Given the description of an element on the screen output the (x, y) to click on. 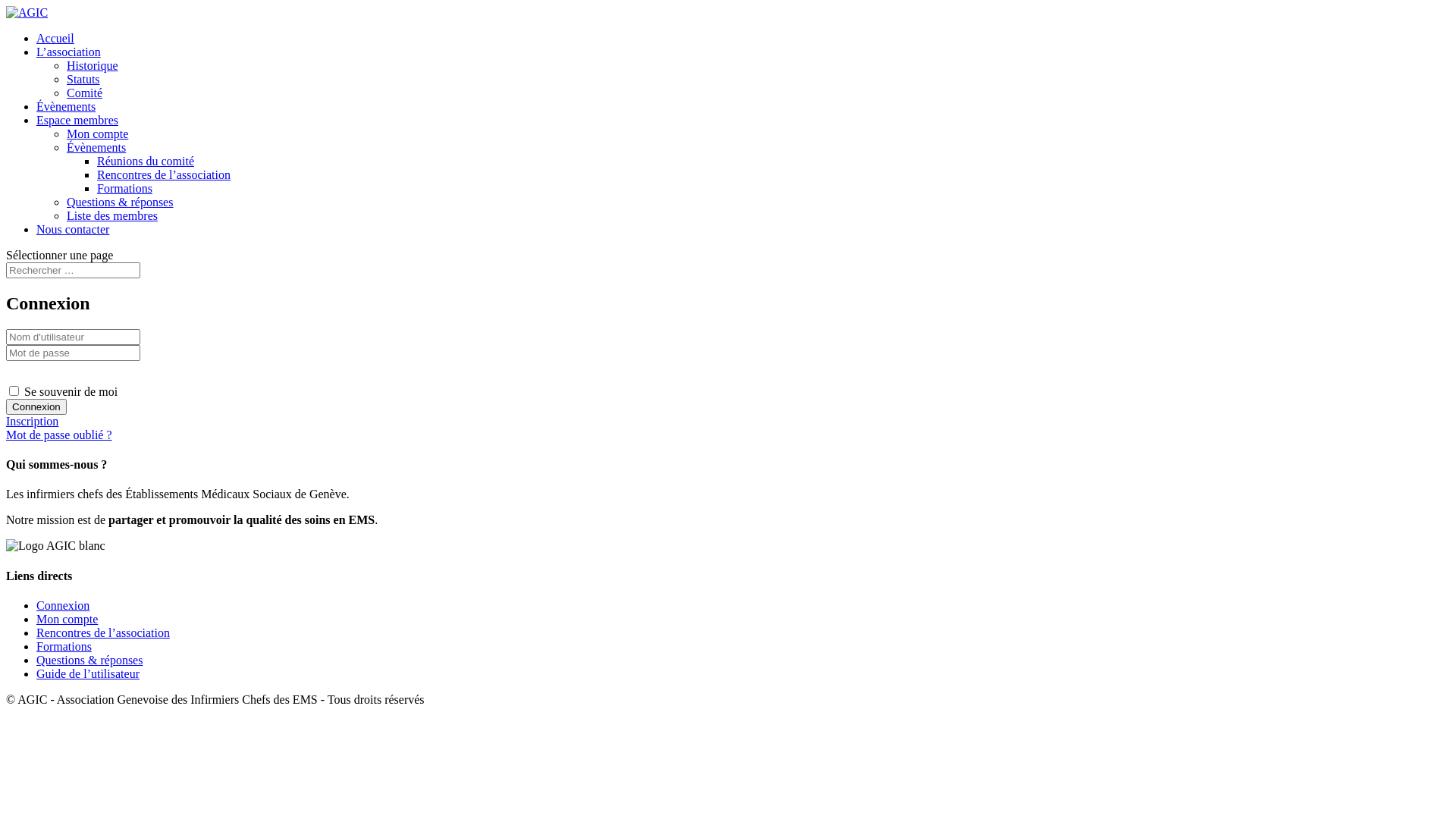
Inscription Element type: text (32, 420)
Mon compte Element type: text (66, 618)
Accueil Element type: text (55, 37)
Historique Element type: text (92, 65)
Rechercher: Element type: hover (73, 270)
Nous contacter Element type: text (72, 228)
Formations Element type: text (63, 646)
Mon compte Element type: text (97, 133)
Espace membres Element type: text (77, 119)
Formations Element type: text (124, 188)
Connexion Element type: text (36, 406)
Connexion Element type: text (62, 605)
Liste des membres Element type: text (111, 215)
Statuts Element type: text (83, 78)
